Given the description of an element on the screen output the (x, y) to click on. 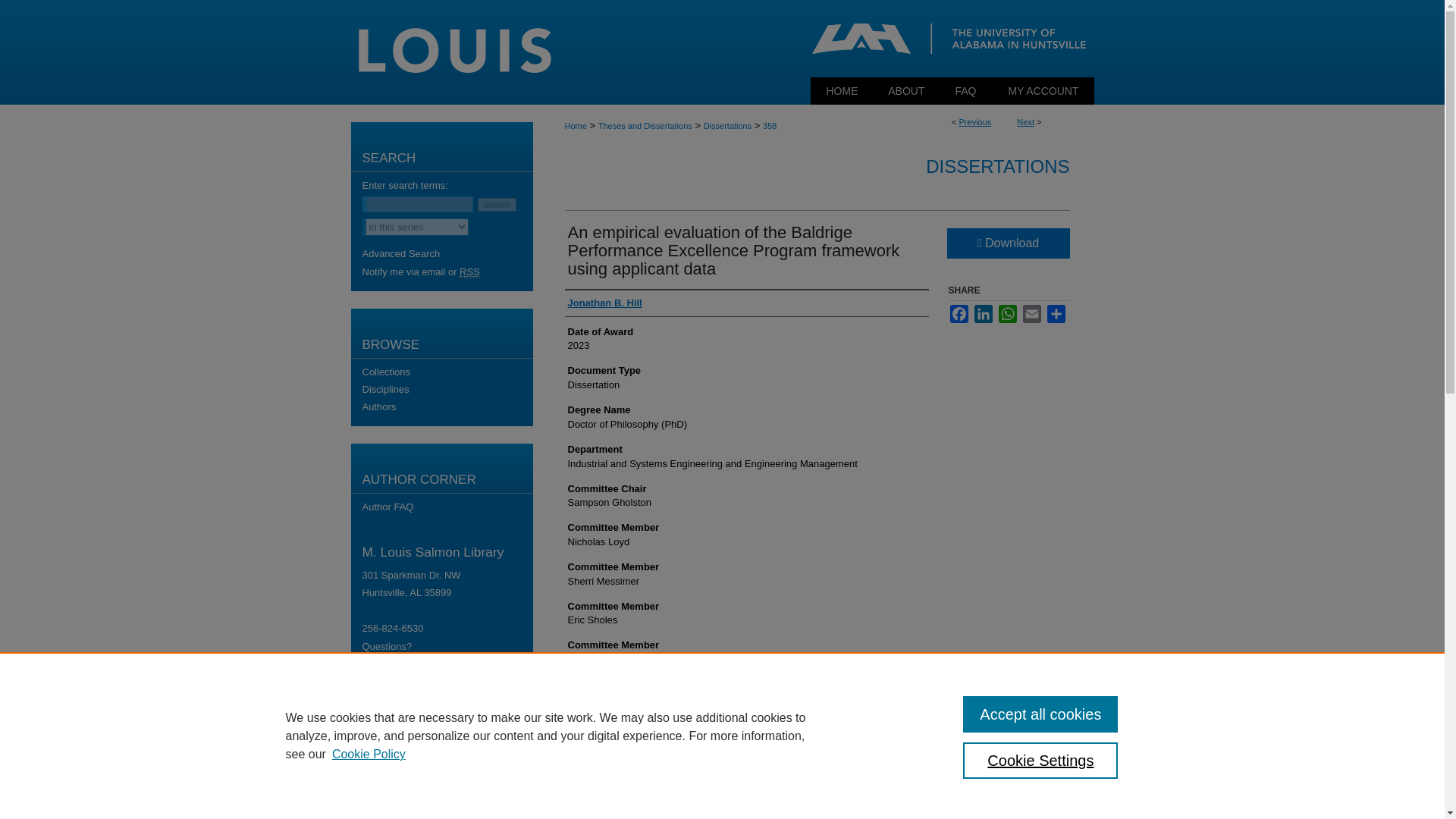
Home (843, 90)
LOUIS (721, 38)
My Account (1042, 90)
Author FAQ (447, 506)
Search (496, 203)
Collections (447, 371)
Disciplines (447, 389)
Share (1055, 313)
Search (496, 203)
Email or RSS Notifications (447, 271)
Download (1007, 243)
Jonathan B. Hill (604, 303)
Theses and Dissertations (645, 125)
HOME (843, 90)
